Given the description of an element on the screen output the (x, y) to click on. 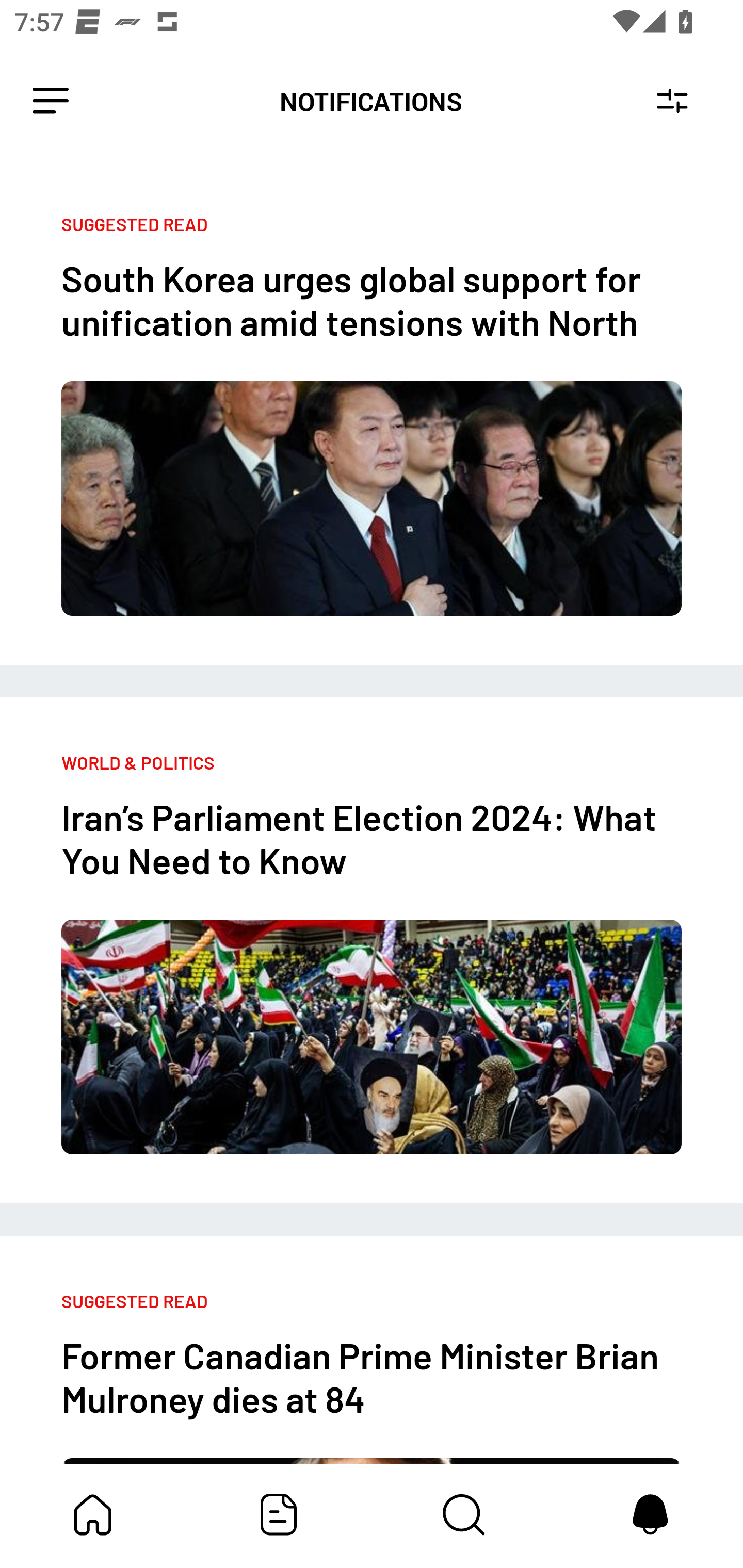
Leading Icon (50, 101)
Notification Settings (672, 101)
My Bundle (92, 1514)
Featured (278, 1514)
Content Store (464, 1514)
